Given the description of an element on the screen output the (x, y) to click on. 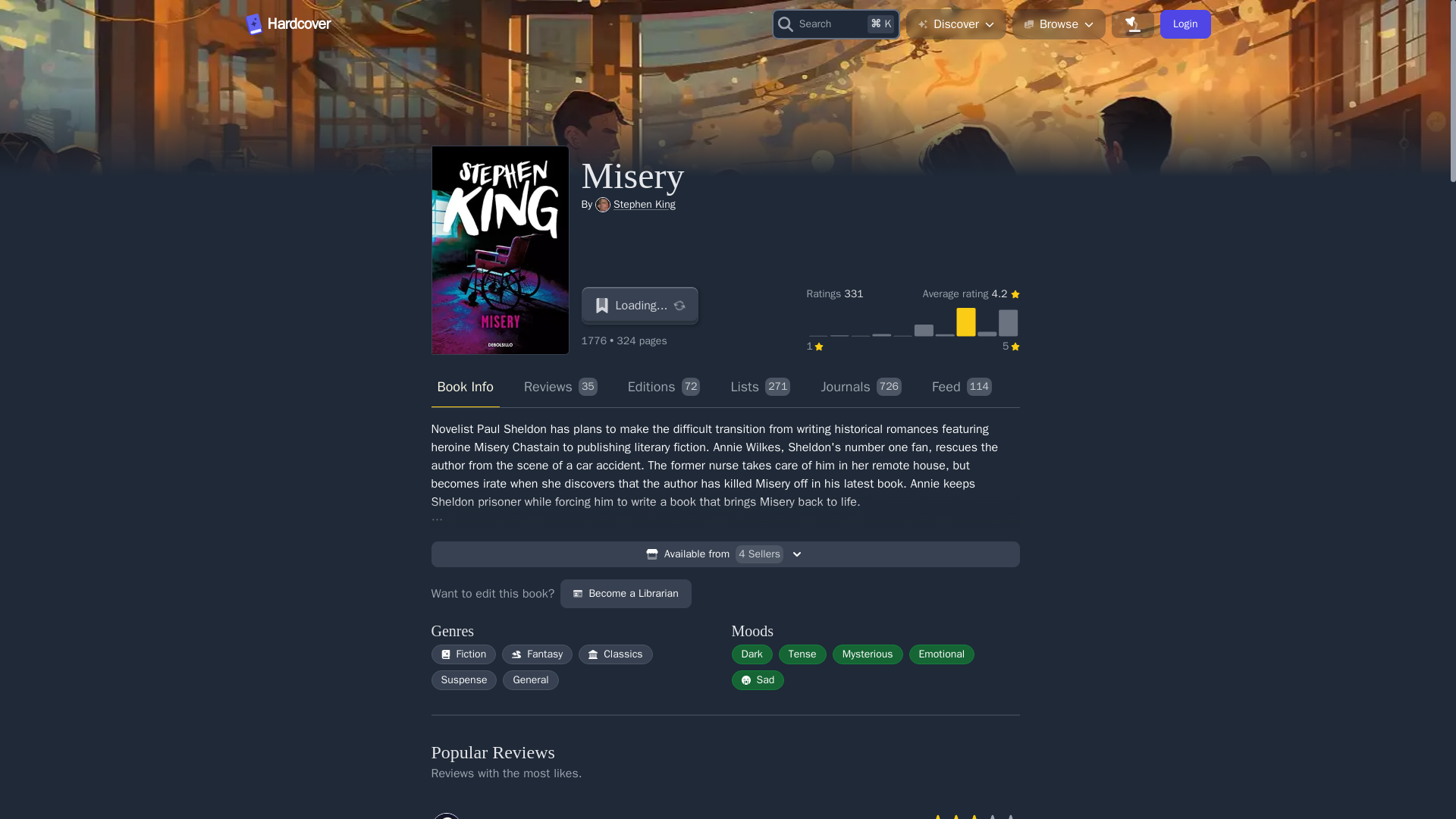
Suspense (464, 679)
Fantasy (663, 386)
Loading... (724, 554)
Stephen King (537, 654)
Book Info (860, 386)
Login (639, 305)
Fiction (643, 204)
General (464, 386)
Become a Librarian (1184, 23)
Browse (464, 654)
